Given the description of an element on the screen output the (x, y) to click on. 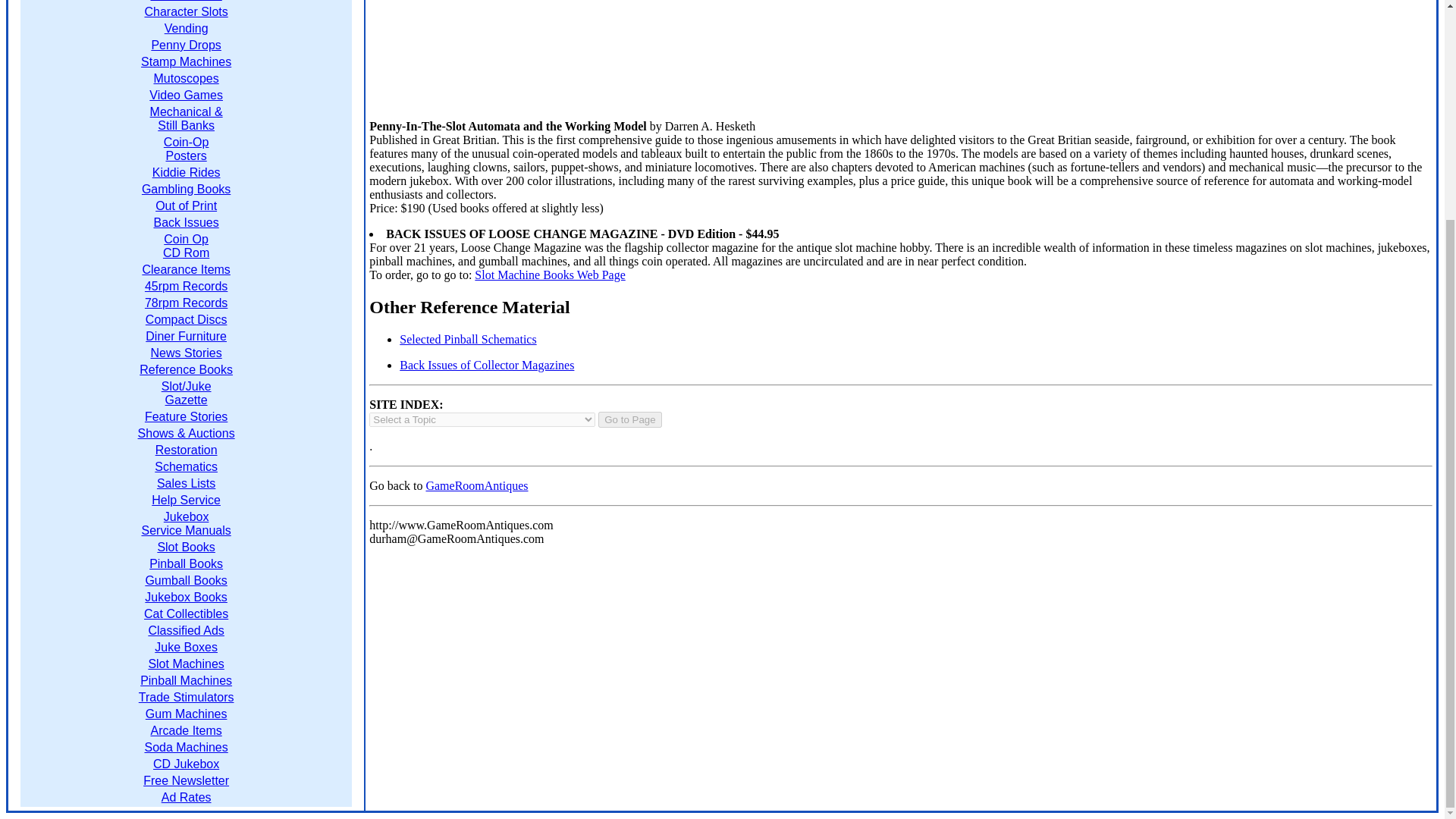
Character Slots (185, 11)
45rpm Records (185, 286)
Out of Print (185, 205)
Back Issues (185, 222)
Vending (186, 28)
Stamp Machines (186, 61)
Video Games (185, 94)
Compact Discs (186, 318)
Clearance Items (185, 269)
Punchboards (185, 0)
Go to Page (629, 419)
Mutoscopes (185, 78)
78rpm Records (185, 302)
Penny Drops (186, 44)
